Given the description of an element on the screen output the (x, y) to click on. 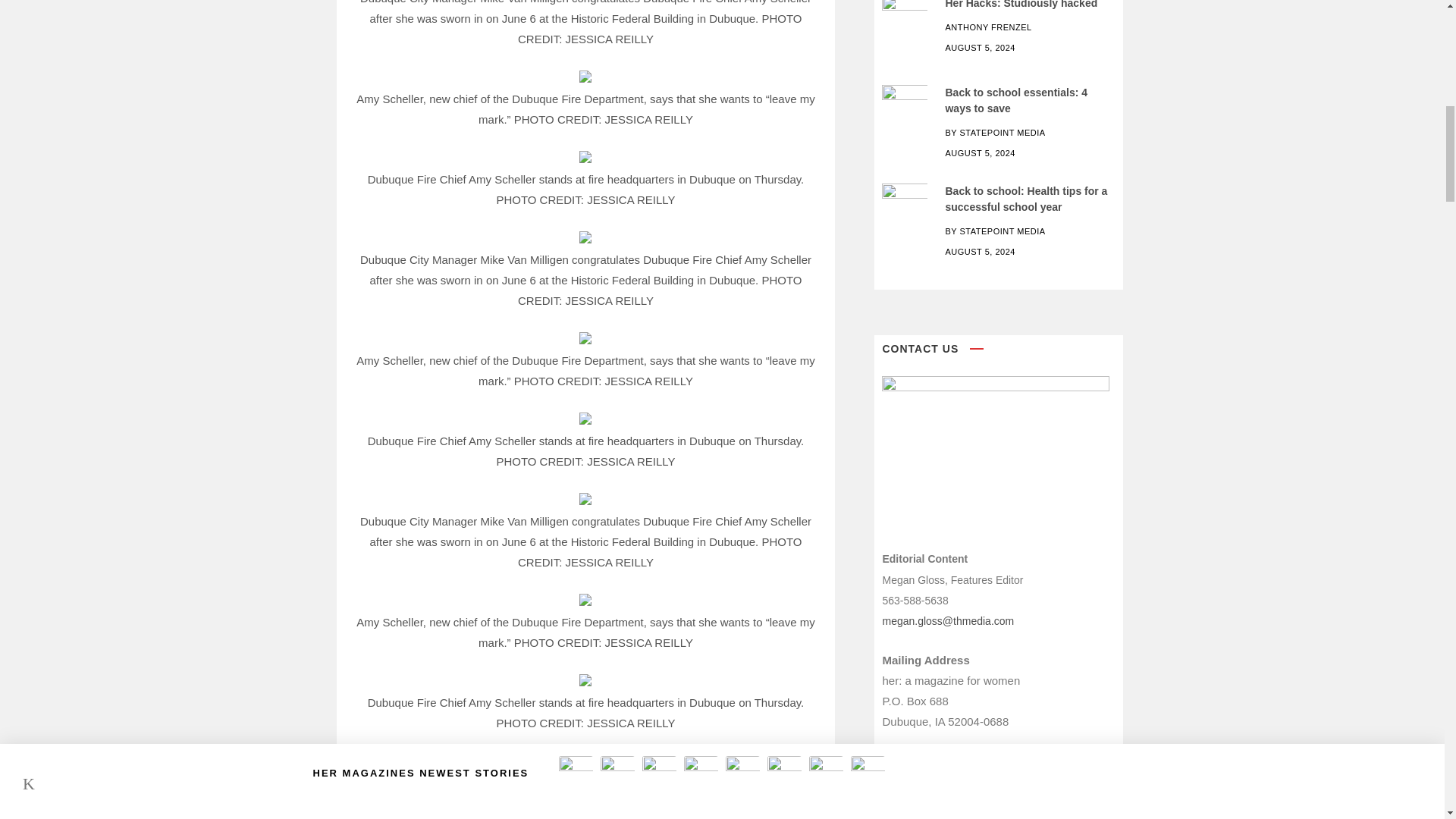
Posts by Anthony Frenzel (987, 26)
Health 2 (904, 198)
Posts by by statepoint media (994, 230)
N2312P12006H.jpg (904, 100)
Posts by by statepoint media (994, 132)
